Given the description of an element on the screen output the (x, y) to click on. 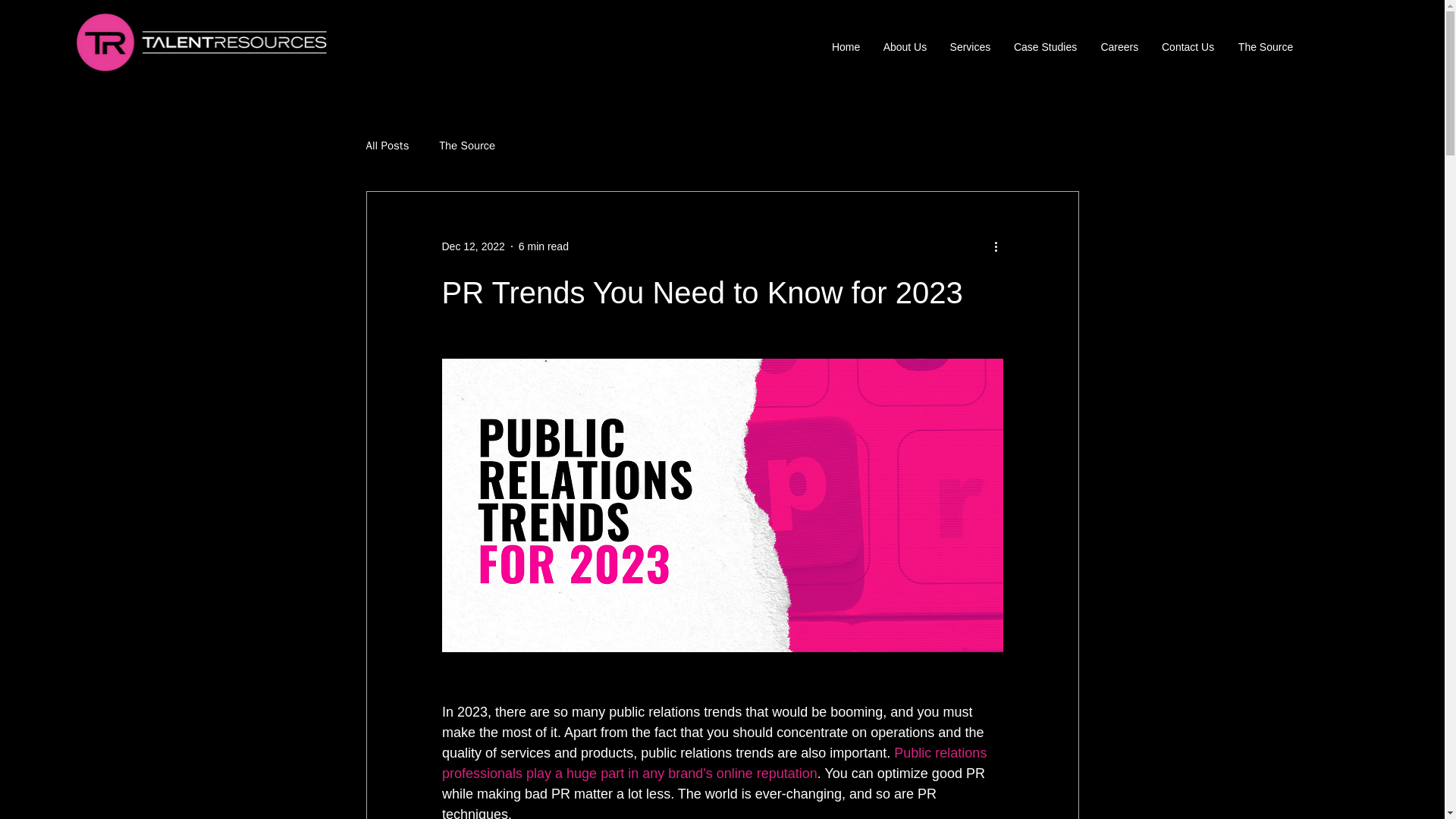
Contact Us (1187, 46)
6 min read (543, 246)
The Source (1264, 46)
All Posts (387, 145)
Case Studies (1044, 46)
Careers (1118, 46)
Dec 12, 2022 (472, 246)
The Source (467, 145)
About Us (903, 46)
Home (844, 46)
